Given the description of an element on the screen output the (x, y) to click on. 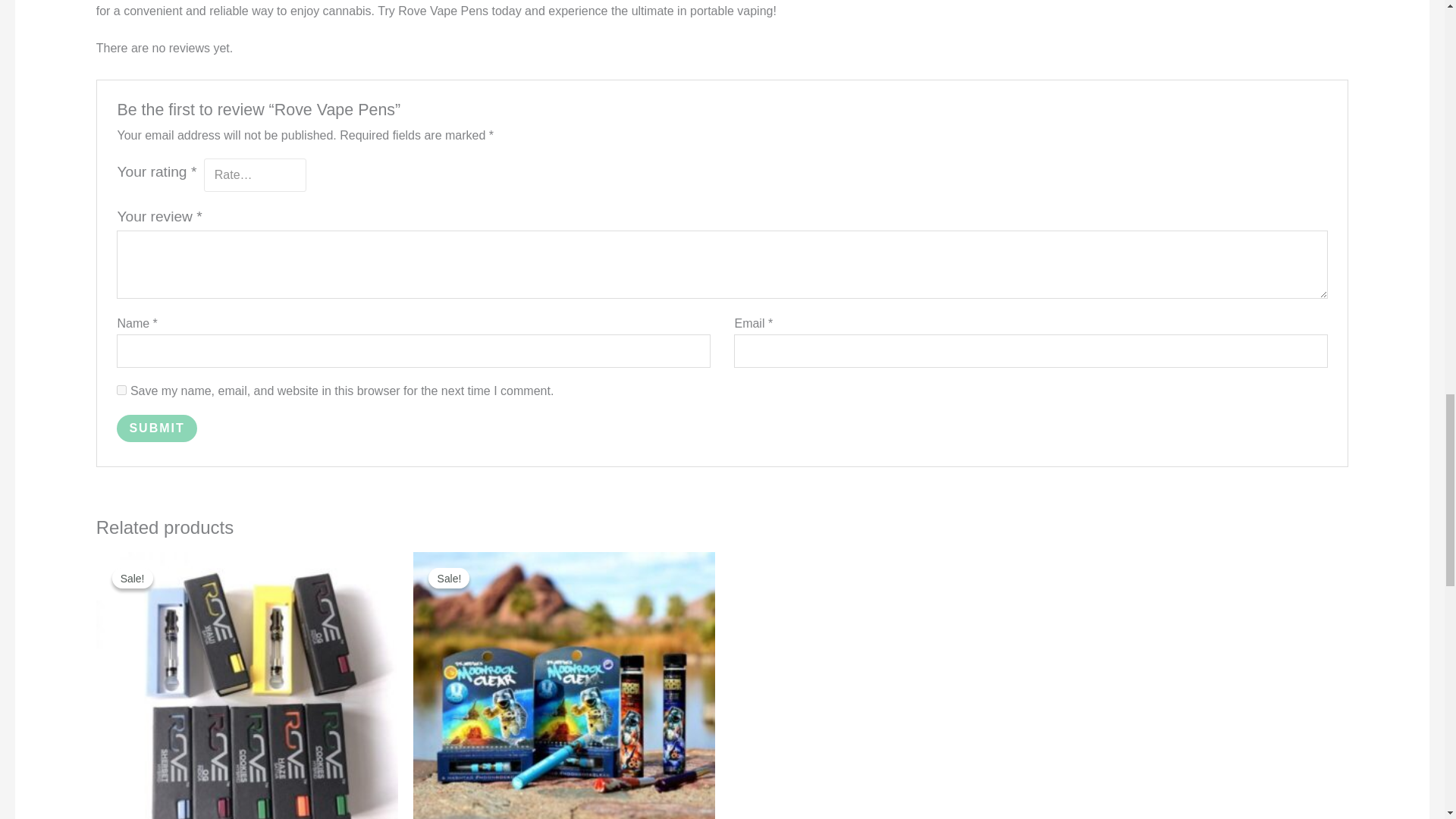
yes (121, 389)
Submit (156, 428)
